Given the description of an element on the screen output the (x, y) to click on. 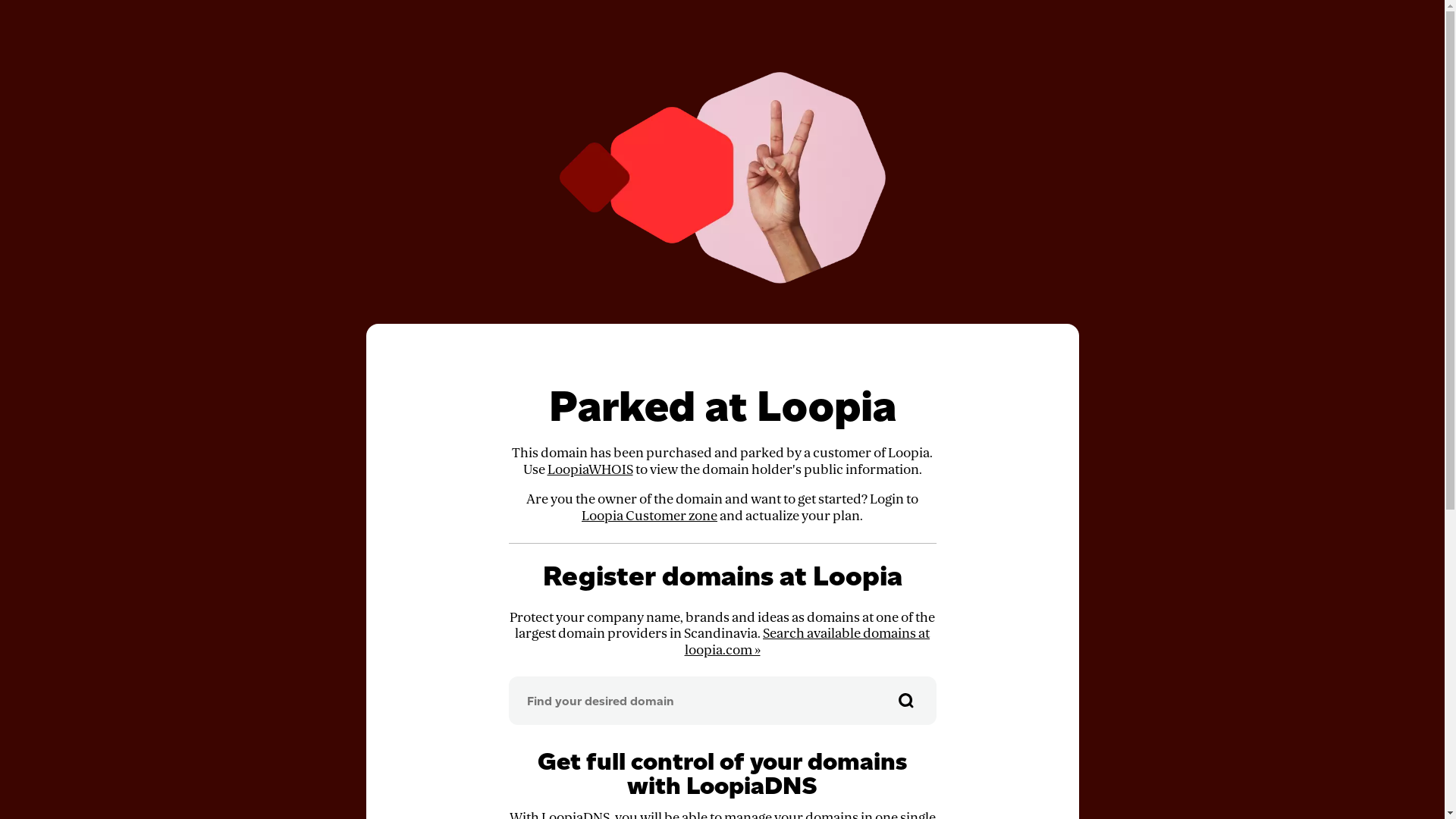
LoopiaWHOIS Element type: text (590, 469)
Loopia Customer zone Element type: text (649, 516)
